Given the description of an element on the screen output the (x, y) to click on. 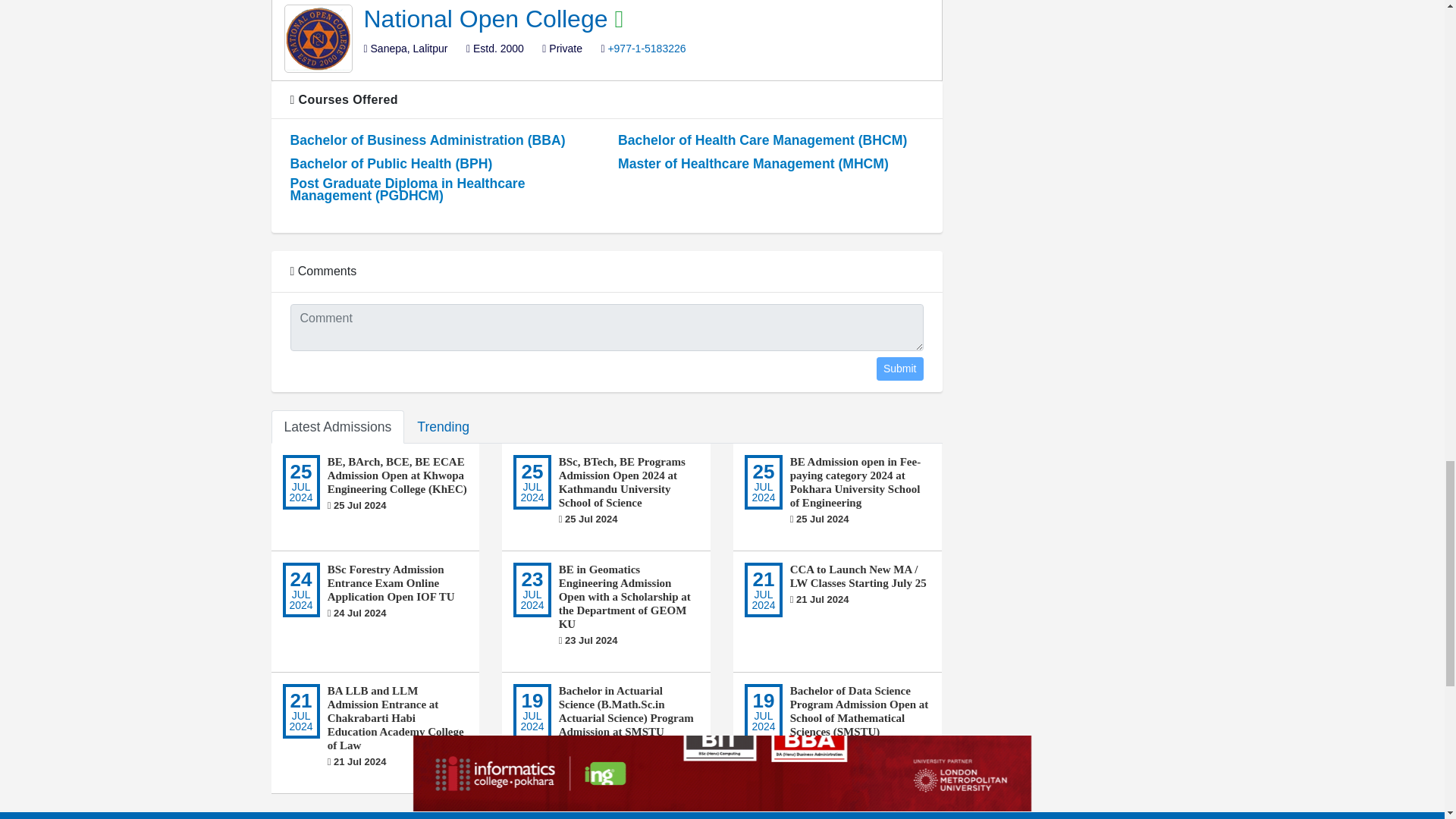
Verified (618, 18)
National Open College (489, 18)
